Given the description of an element on the screen output the (x, y) to click on. 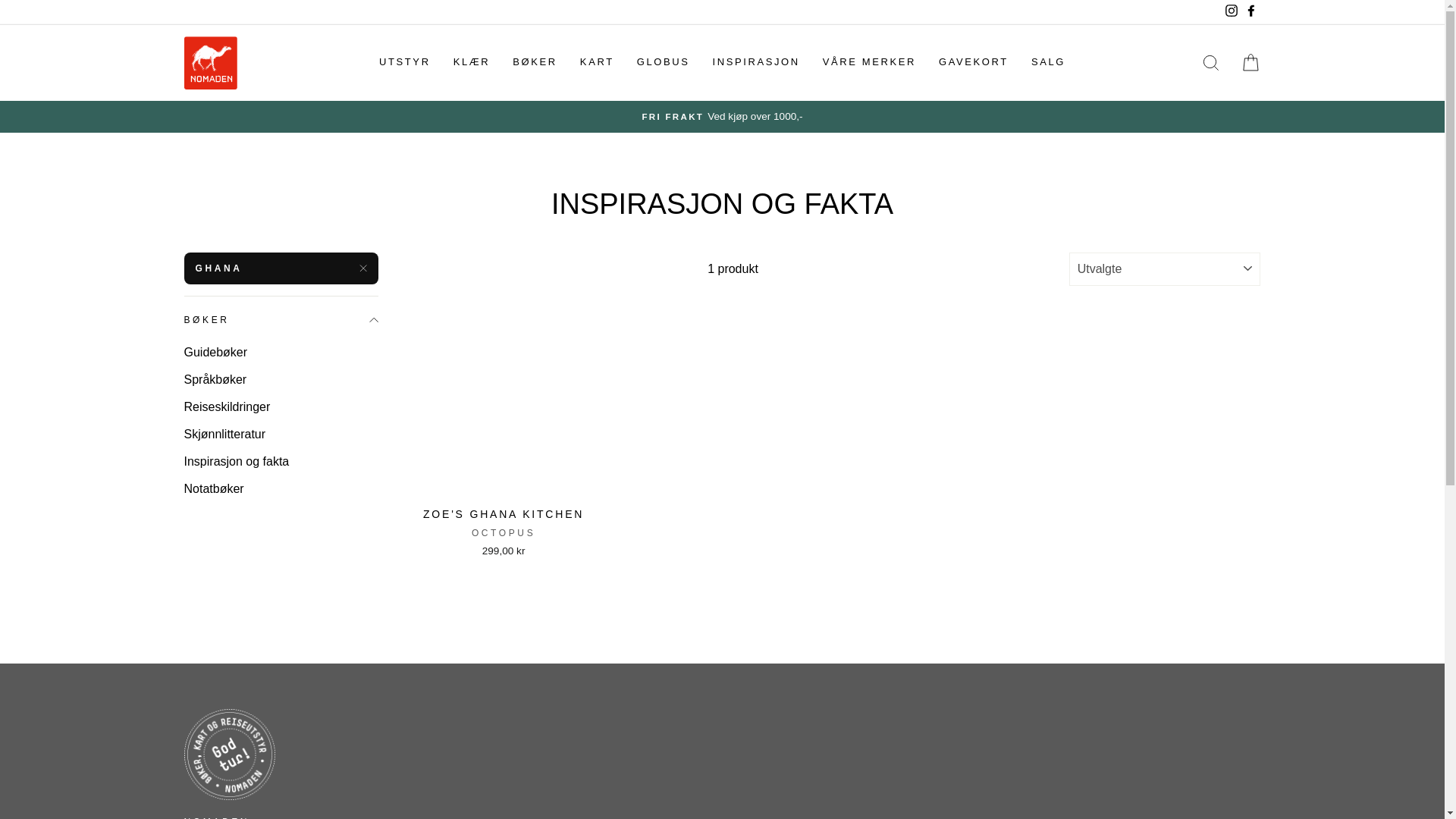
Fjern taggen Ghana (280, 267)
